Given the description of an element on the screen output the (x, y) to click on. 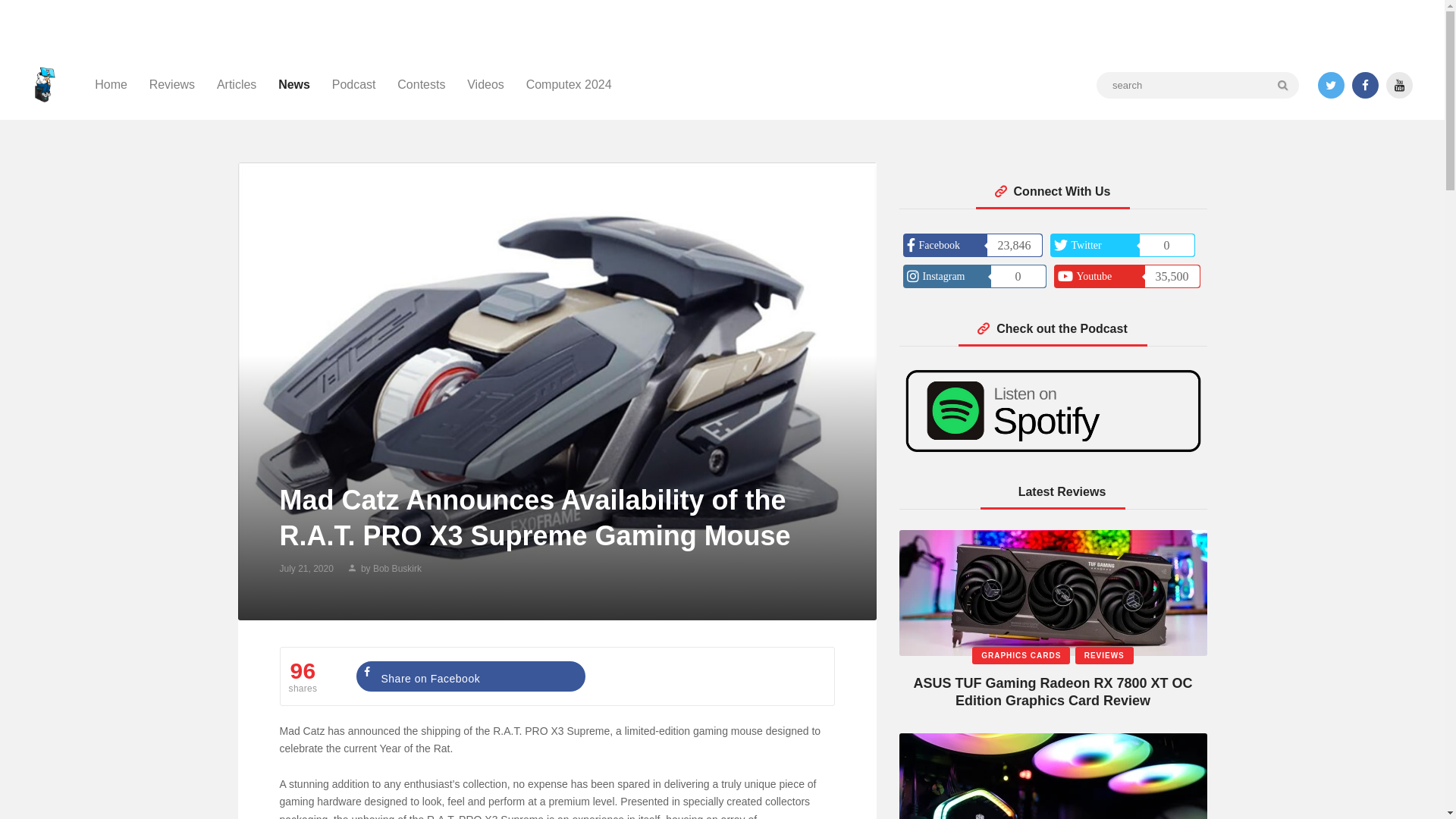
Articles (236, 85)
Reviews (171, 85)
Share on X (703, 675)
Share on Facebook (470, 675)
Home (111, 85)
News (294, 85)
